Given the description of an element on the screen output the (x, y) to click on. 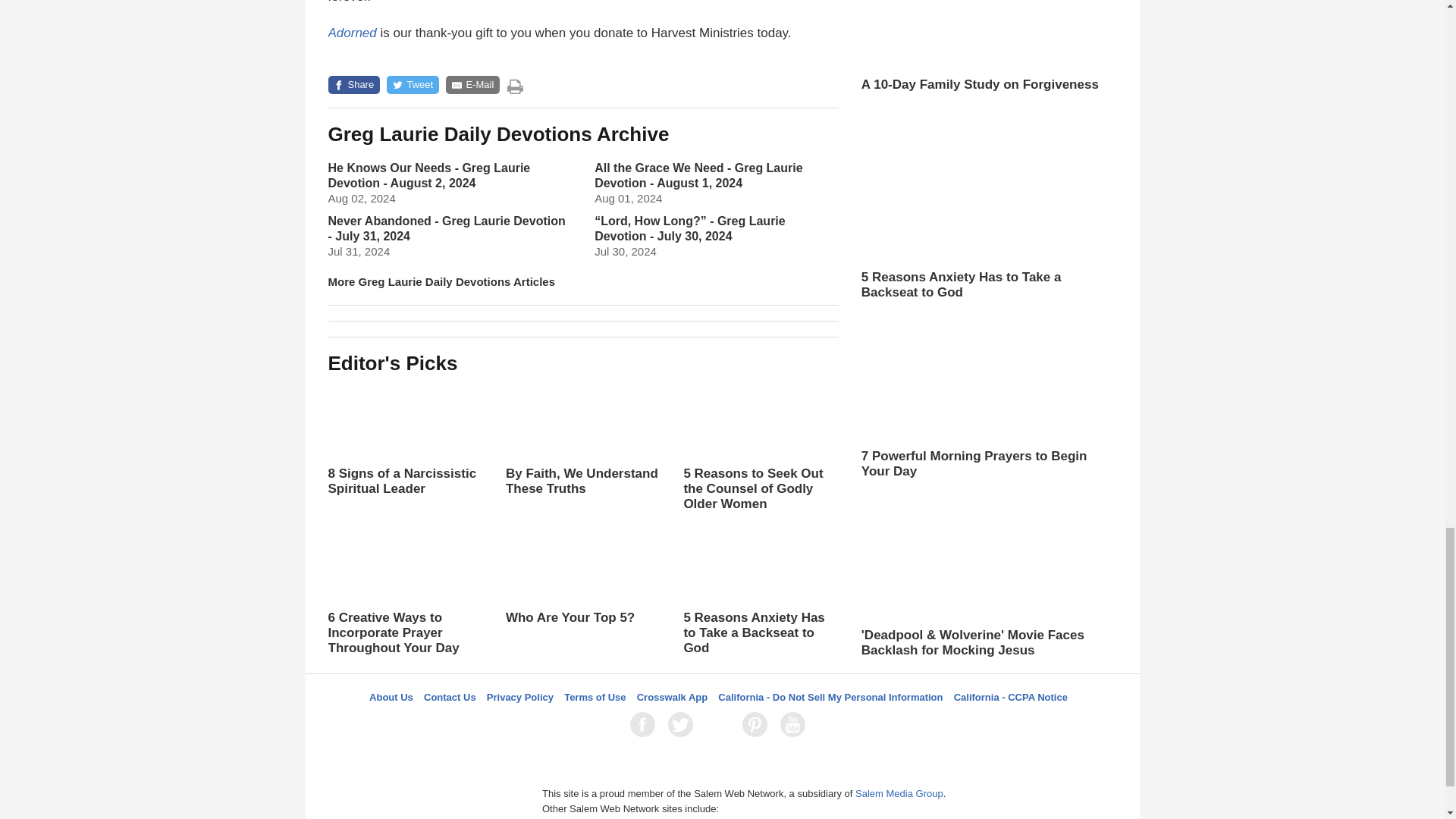
Facebook (645, 724)
Pinterest (757, 724)
YouTube (795, 724)
LifeAudio (719, 724)
By Faith, We Understand These Truths (583, 453)
8 Signs of a Narcissistic Spiritual Leader (404, 438)
6 Creative Ways to Incorporate Prayer Throughout Your Day (404, 590)
5 Reasons to Seek Out the Counsel of Godly Older Women (760, 446)
5 Reasons Anxiety Has to Take a Backseat to God (760, 590)
Twitter (683, 724)
